Given the description of an element on the screen output the (x, y) to click on. 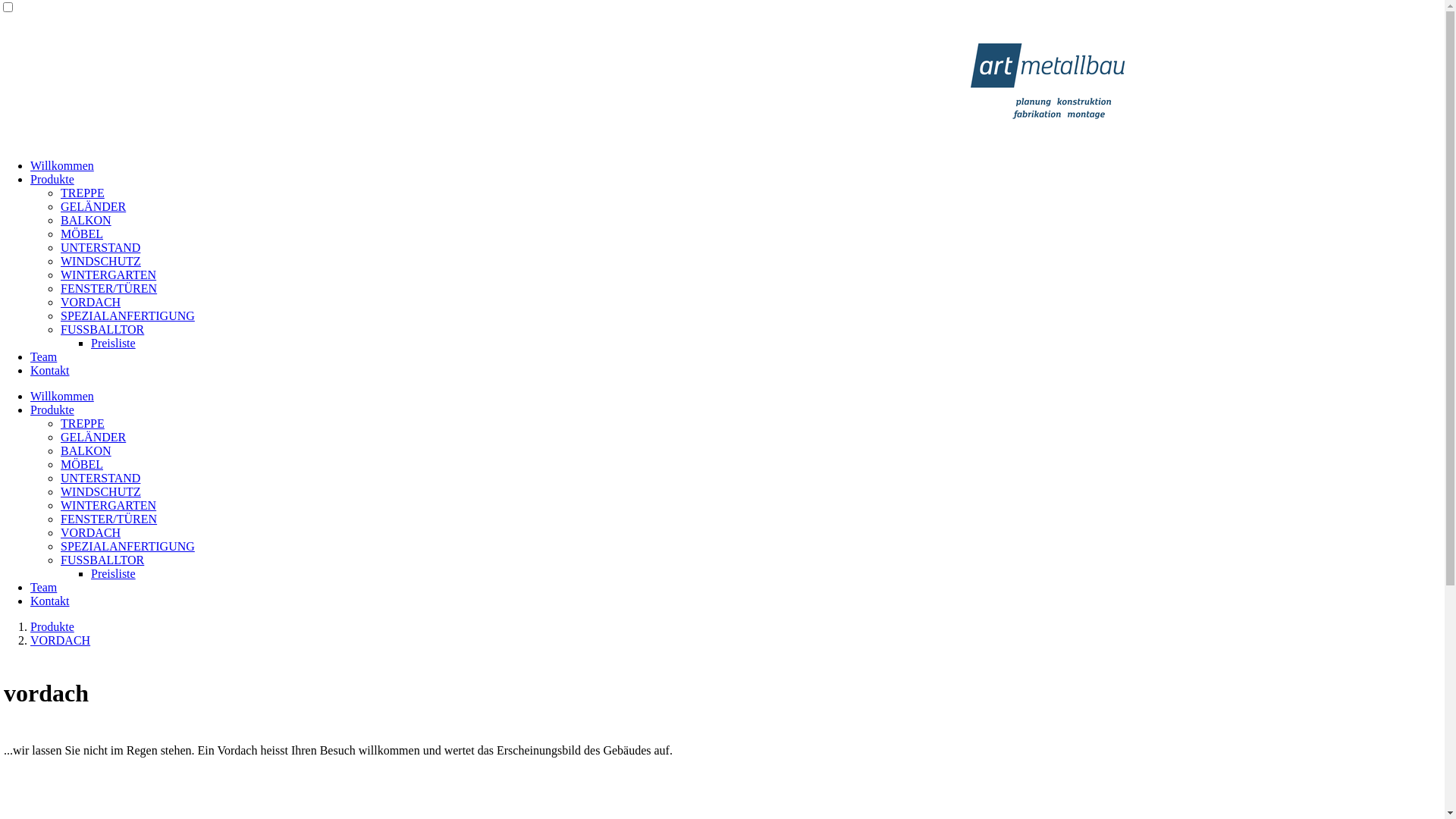
FUSSBALLTOR Element type: text (102, 329)
VORDACH Element type: text (90, 301)
BALKON Element type: text (85, 450)
SPEZIALANFERTIGUNG Element type: text (127, 315)
WINTERGARTEN Element type: text (108, 504)
Team Element type: text (43, 356)
FUSSBALLTOR Element type: text (102, 559)
BALKON Element type: text (85, 219)
Produkte Element type: text (52, 178)
Team Element type: text (43, 586)
VORDACH Element type: text (90, 532)
UNTERSTAND Element type: text (100, 247)
Preisliste Element type: text (113, 573)
Kontakt Element type: text (49, 600)
WINDSCHUTZ Element type: text (100, 491)
Produkte Element type: text (52, 626)
TREPPE Element type: text (82, 423)
Willkommen Element type: text (62, 165)
Produkte Element type: text (52, 409)
SPEZIALANFERTIGUNG Element type: text (127, 545)
WINDSCHUTZ Element type: text (100, 260)
Kontakt Element type: text (49, 370)
WINTERGARTEN Element type: text (108, 274)
Preisliste Element type: text (113, 342)
UNTERSTAND Element type: text (100, 477)
TREPPE Element type: text (82, 192)
VORDACH Element type: text (60, 639)
Willkommen Element type: text (62, 395)
